Given the description of an element on the screen output the (x, y) to click on. 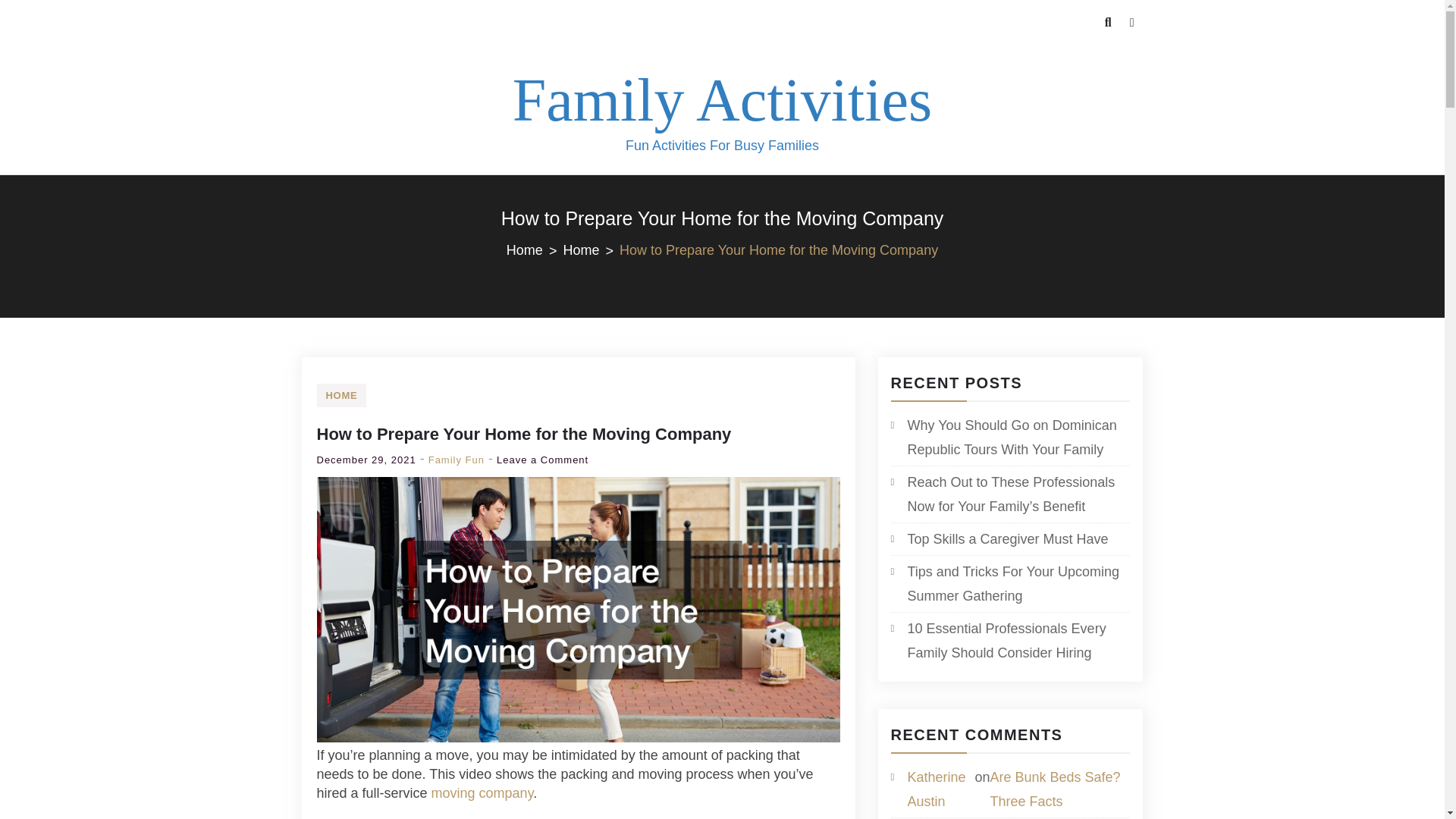
Home (591, 250)
Katherine Austin (936, 789)
Top Skills a Caregiver Must Have (998, 539)
Family Fun (456, 460)
HOME (341, 395)
Are Bunk Beds Safe? Three Facts (1059, 789)
Family Activities (721, 99)
December 29, 2021 (366, 460)
